Given the description of an element on the screen output the (x, y) to click on. 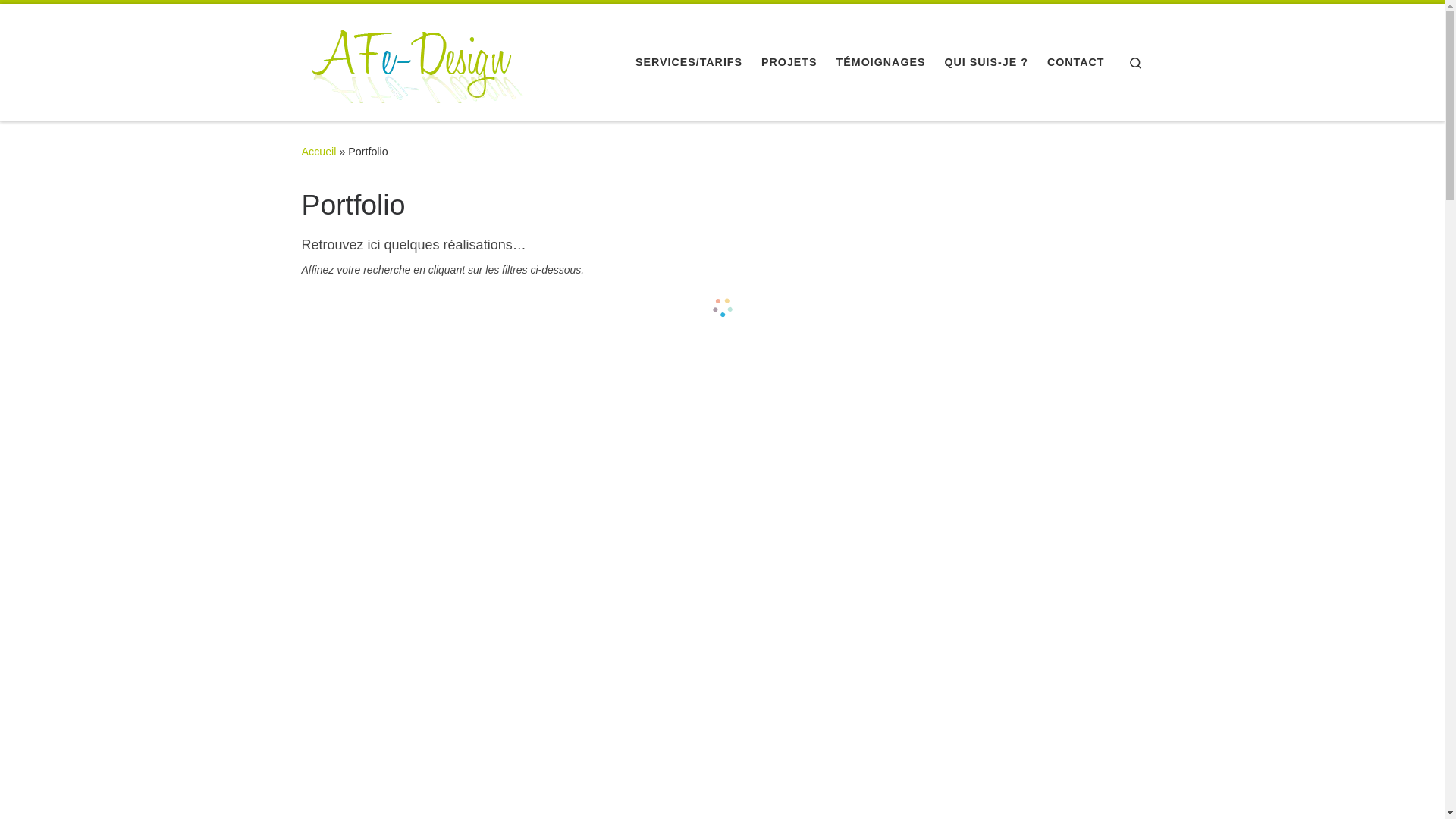
PROJETS Element type: text (789, 62)
CONTACT Element type: text (1075, 62)
Search Element type: text (1135, 62)
Accueil Element type: text (318, 151)
SERVICES/TARIFS Element type: text (688, 62)
QUI SUIS-JE ? Element type: text (985, 62)
Skip to content Element type: text (61, 20)
